Given the description of an element on the screen output the (x, y) to click on. 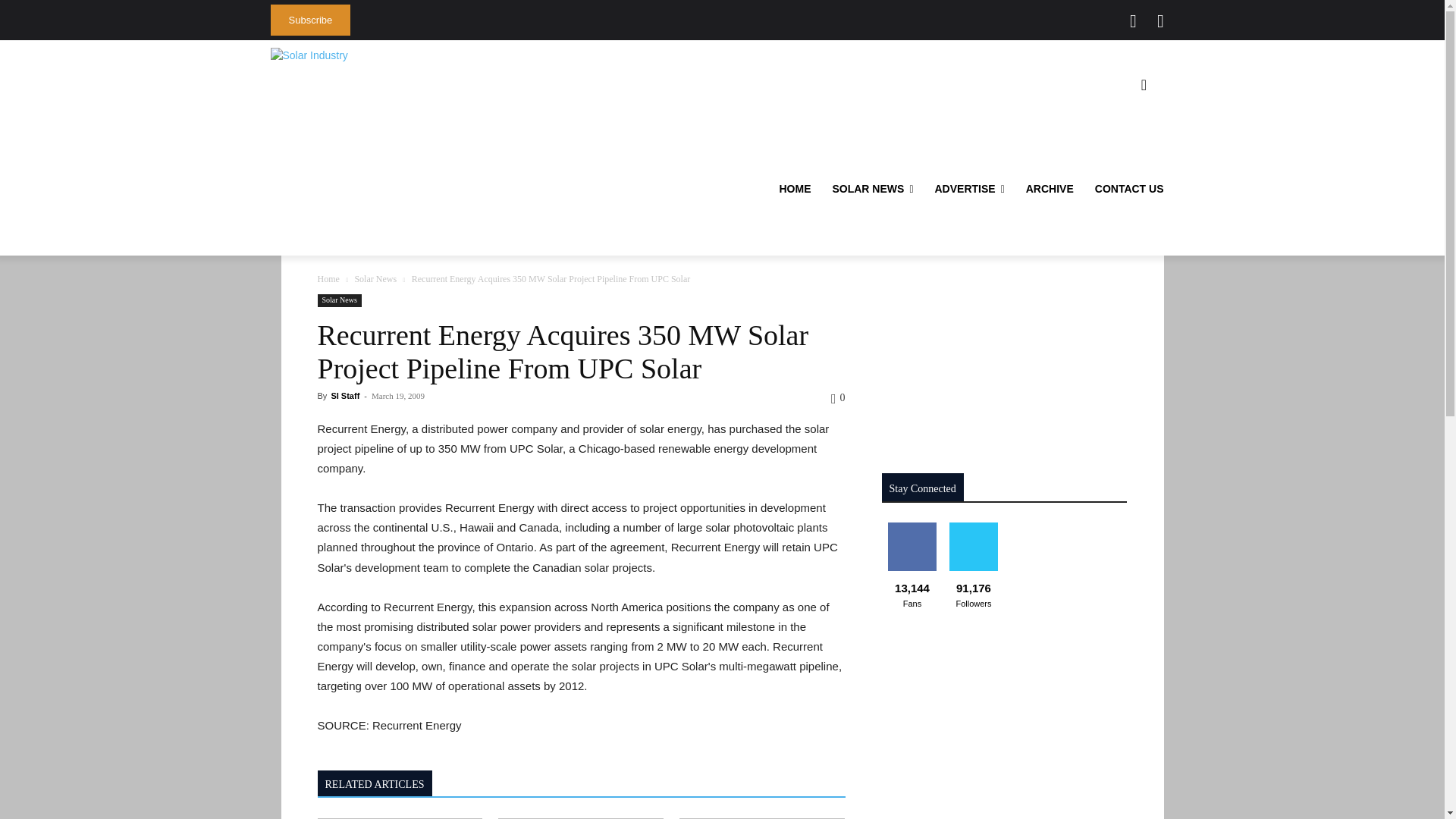
Rss (1160, 21)
Solar Industry (308, 55)
Subscribe (309, 20)
Subscribe (309, 20)
Twitter (1133, 21)
